Given the description of an element on the screen output the (x, y) to click on. 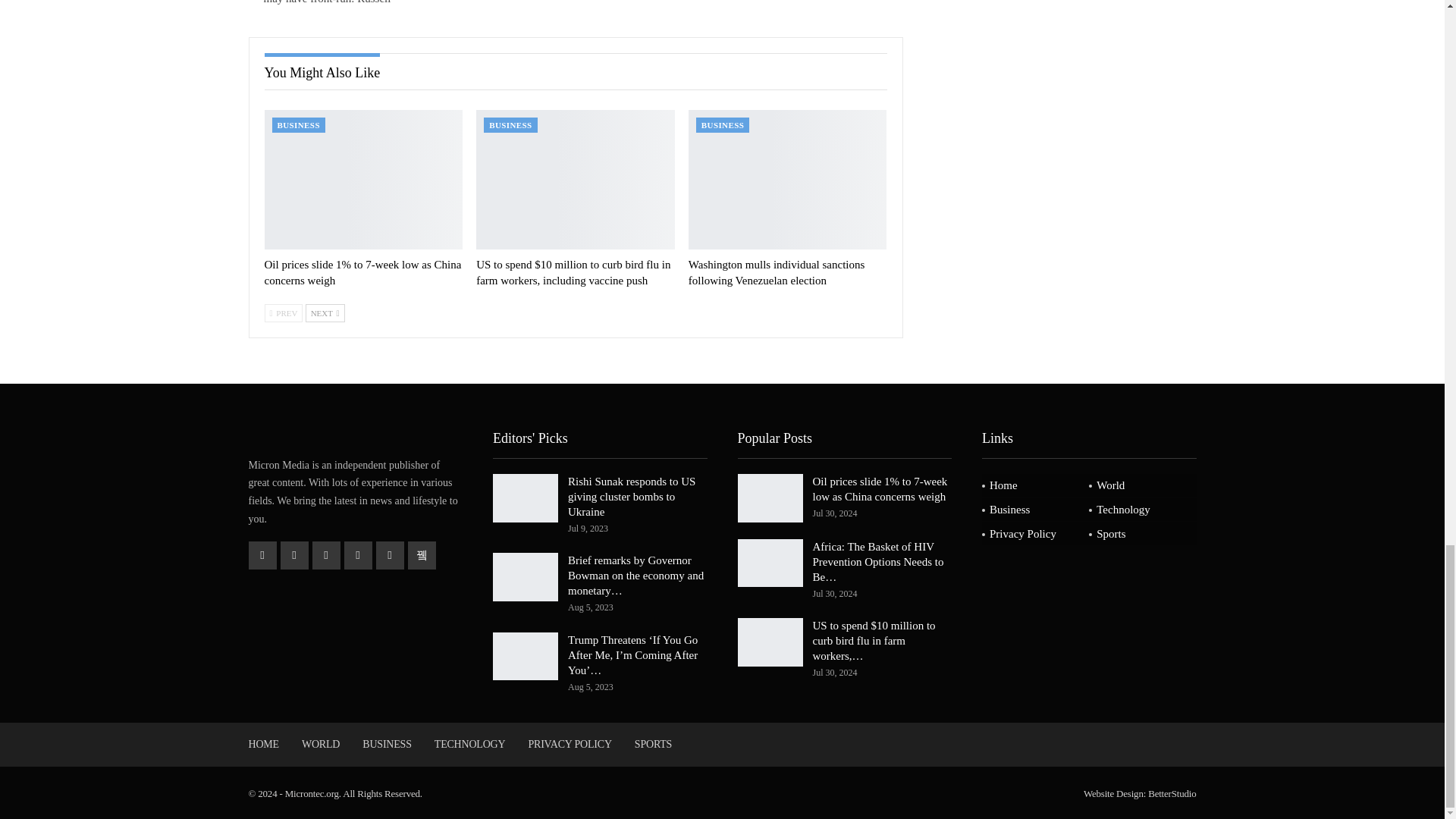
Next (325, 312)
Previous (282, 312)
